Given the description of an element on the screen output the (x, y) to click on. 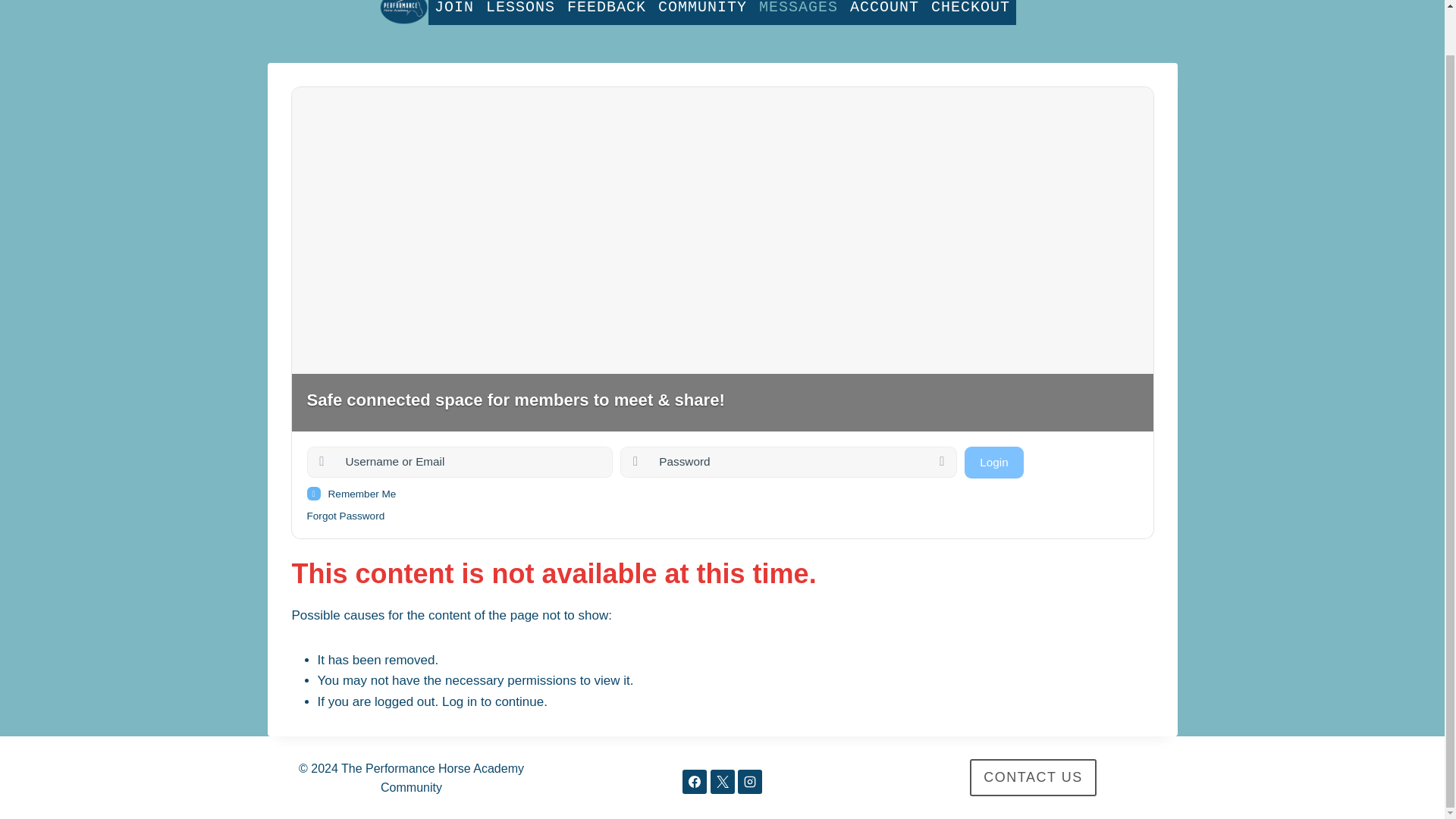
MESSAGES (798, 12)
Forgot Password (344, 515)
Login (993, 461)
JOIN (454, 12)
LESSONS (520, 12)
COMMUNITY (702, 12)
CONTACT US (1032, 777)
CHECKOUT (970, 12)
ACCOUNT (884, 12)
FEEDBACK (606, 12)
